Given the description of an element on the screen output the (x, y) to click on. 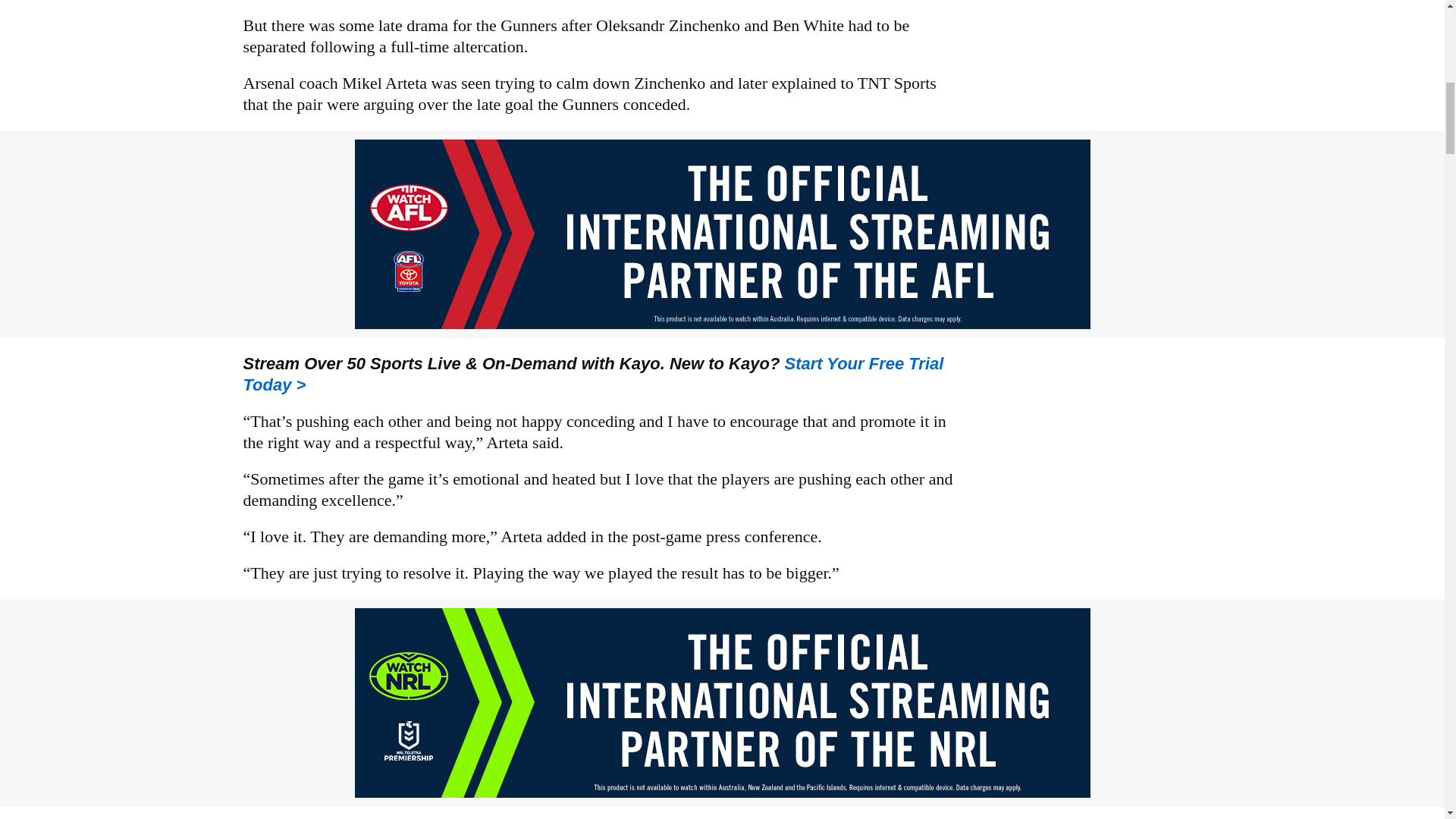
kayosports.com.au (593, 373)
